Given the description of an element on the screen output the (x, y) to click on. 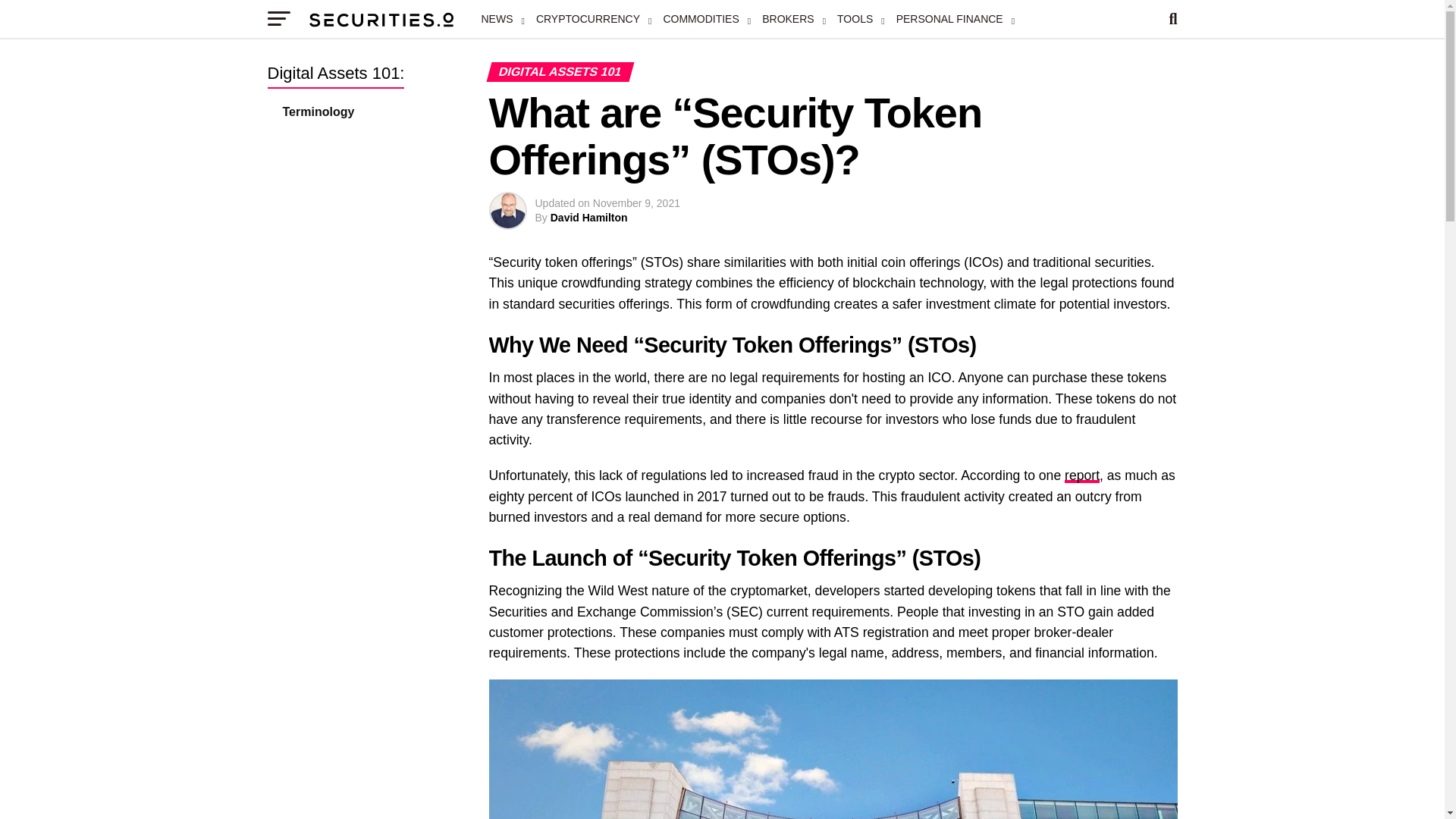
Posts by David Hamilton (588, 217)
